Given the description of an element on the screen output the (x, y) to click on. 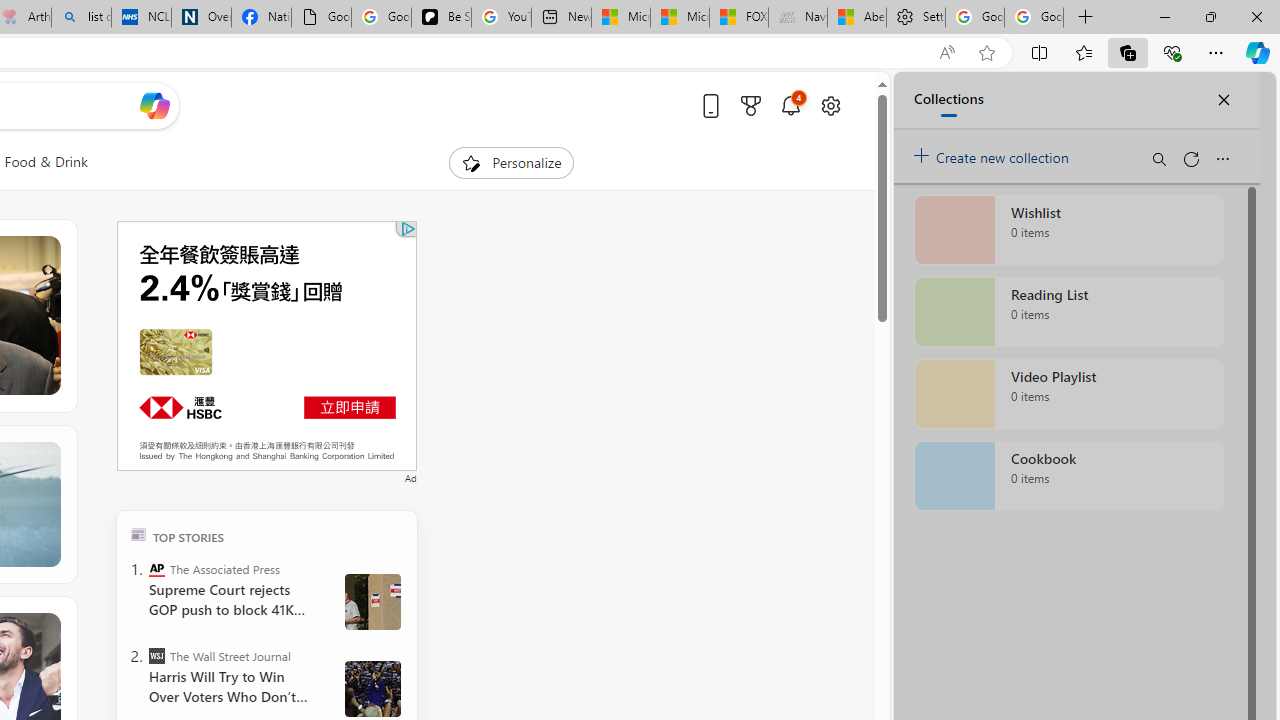
The Wall Street Journal (156, 655)
Be Smart | creating Science videos | Patreon (441, 17)
